Given the description of an element on the screen output the (x, y) to click on. 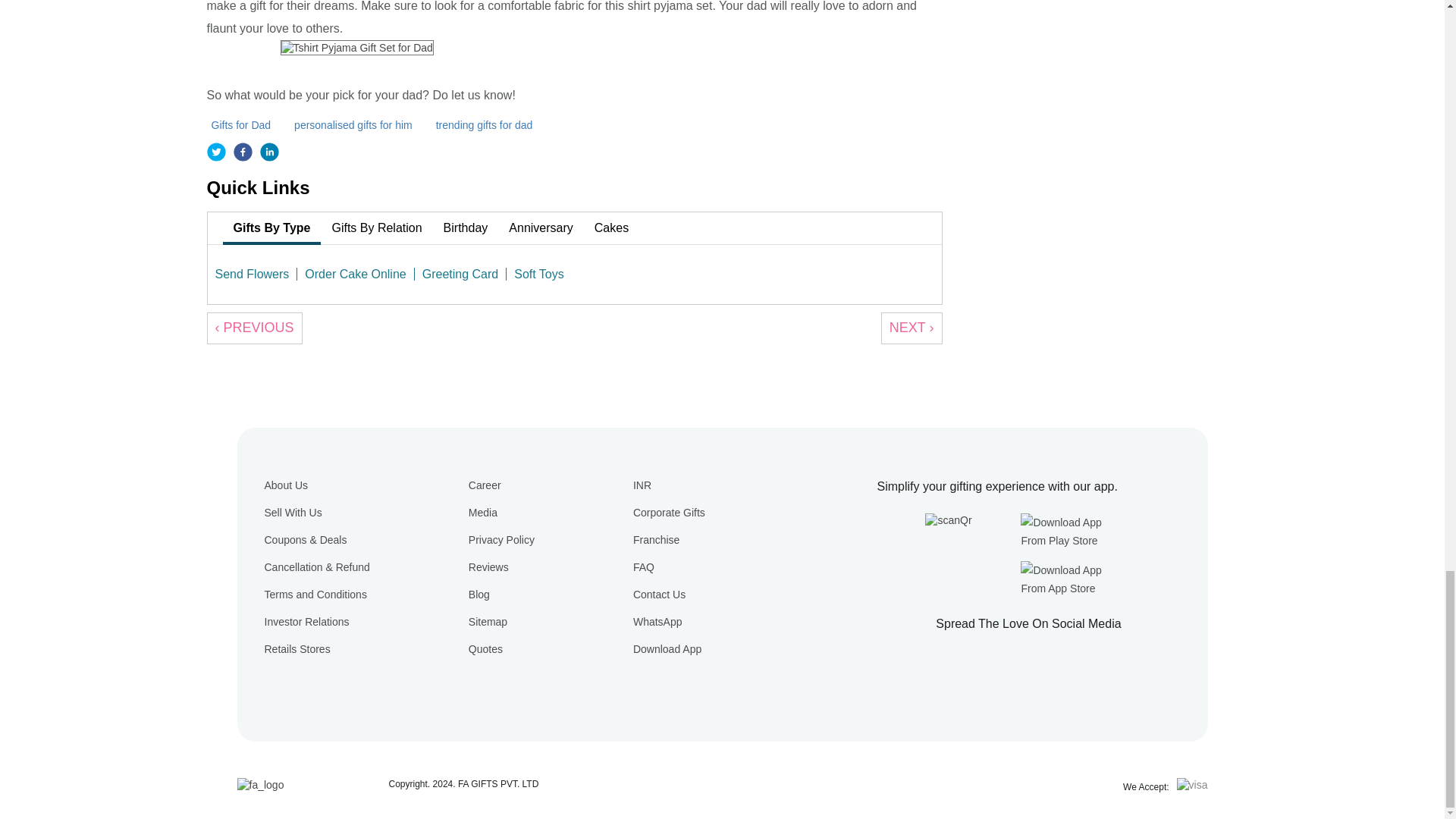
Tshirt Pyjama Gift Set for Dad (357, 47)
Gifts for Dad (243, 124)
personalised gifts for him (355, 124)
trending gifts for dad (486, 124)
Gifts By Relation (376, 228)
Gifts By Type (271, 228)
